Given the description of an element on the screen output the (x, y) to click on. 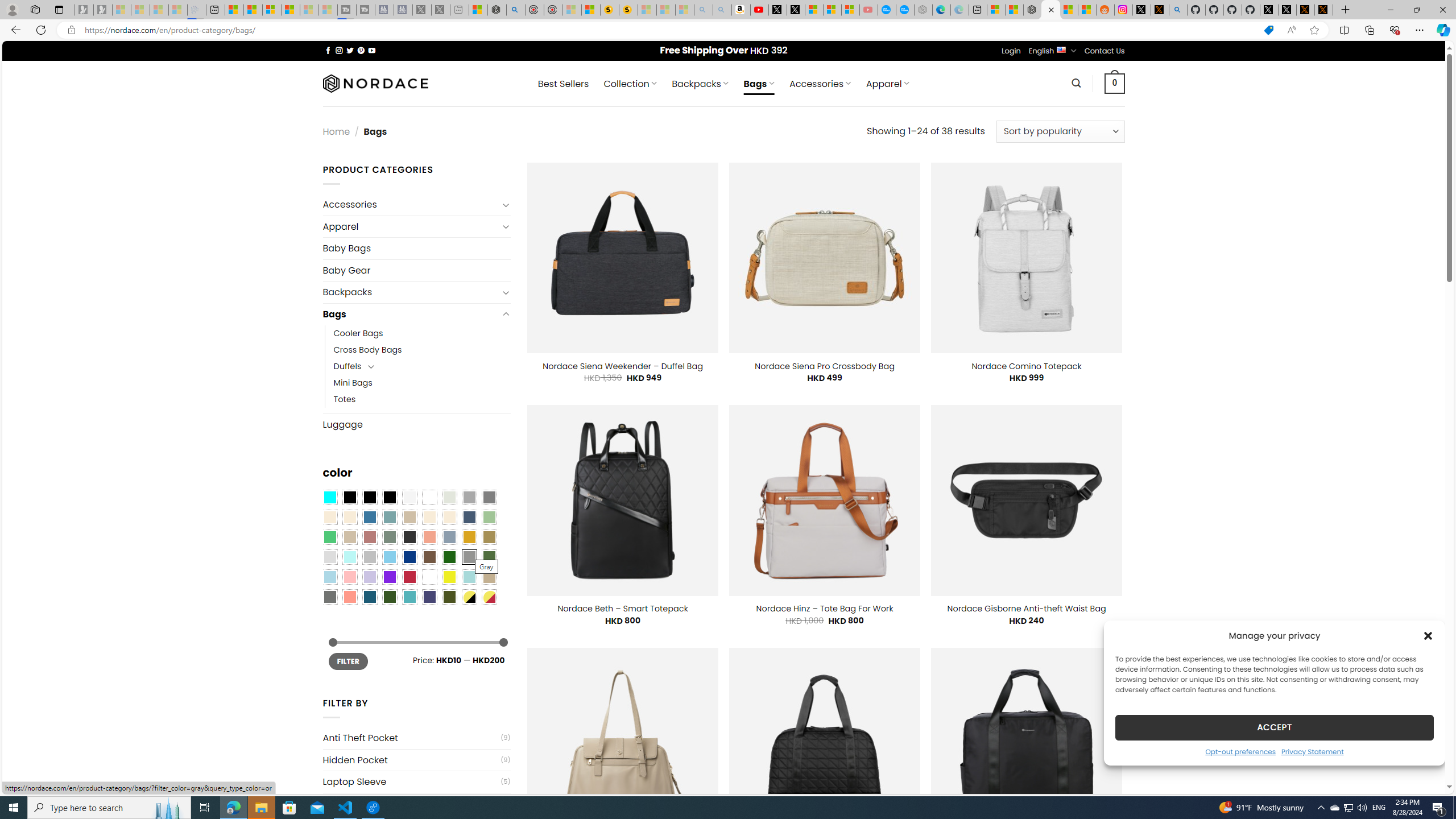
Shanghai, China Weather trends | Microsoft Weather (1086, 9)
Army Green (449, 596)
Teal (408, 596)
Log in to X / X (1142, 9)
Class: cmplz-close (1428, 635)
Nordace - Nordace has arrived Hong Kong - Sleeping (923, 9)
Light Purple (369, 577)
 Best Sellers (563, 83)
Apparel (410, 226)
